Given the description of an element on the screen output the (x, y) to click on. 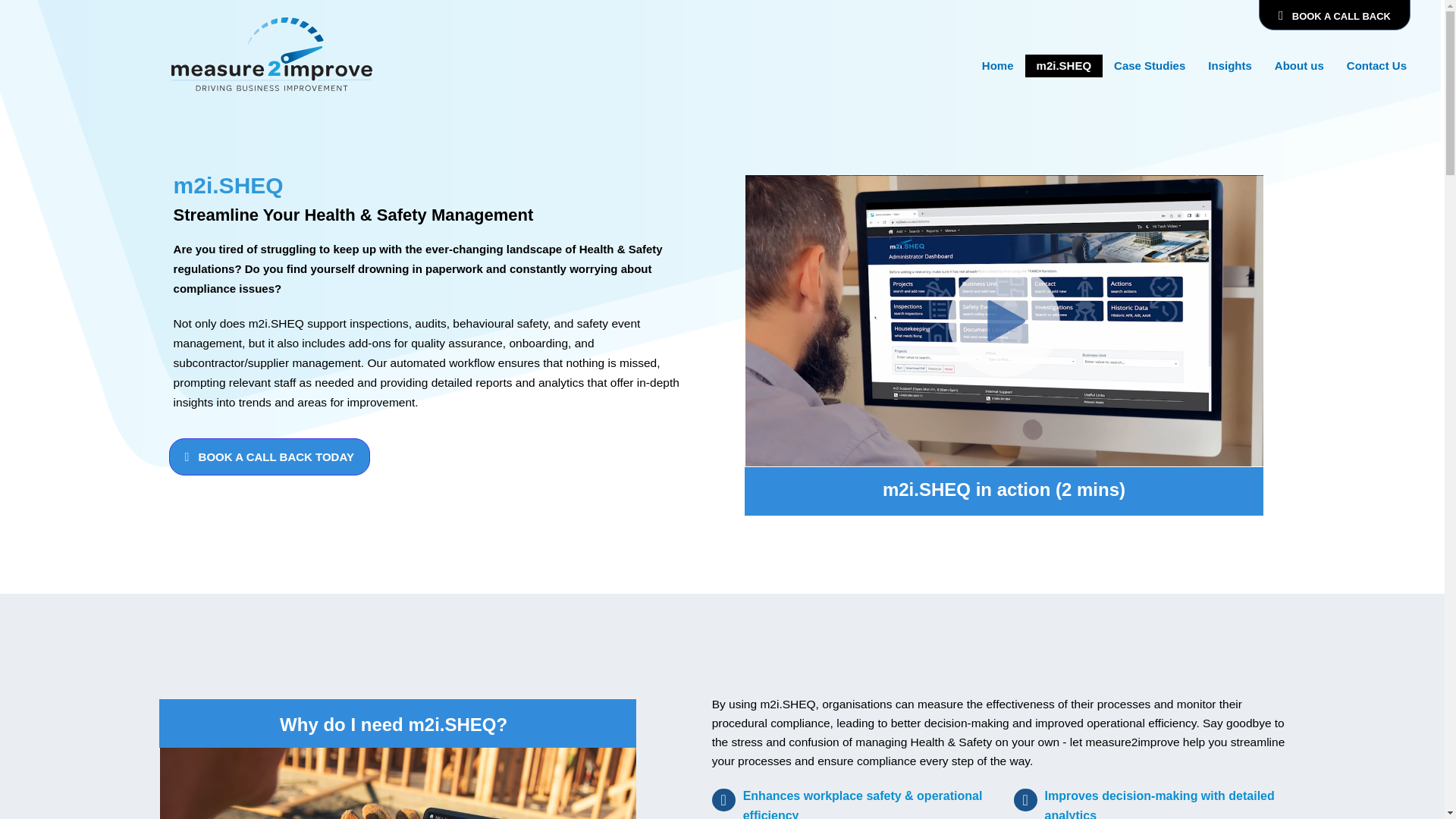
BOOK A CALL BACK (1334, 15)
Home (998, 65)
Insights (1229, 65)
Case Studies (1149, 65)
BOOK A CALL BACK TODAY (268, 456)
Contact Us (1376, 65)
About us (1299, 65)
m2i.SHEQ (1064, 65)
